Given the description of an element on the screen output the (x, y) to click on. 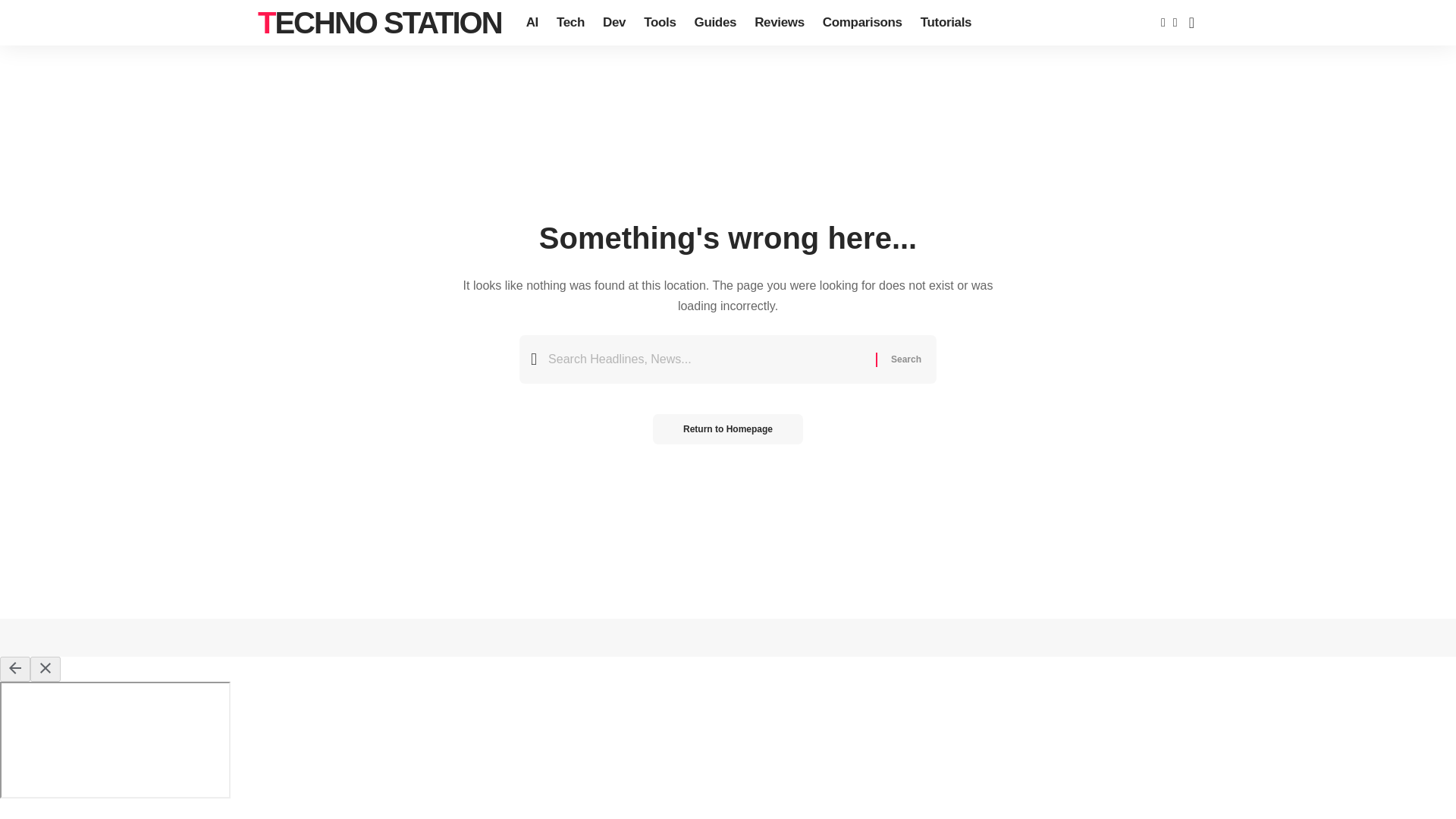
Dev (614, 22)
Techno Station (379, 22)
Tools (659, 22)
Return to Homepage (727, 429)
Search (906, 359)
Guides (715, 22)
Tutorials (945, 22)
Comparisons (862, 22)
Search (906, 359)
Reviews (779, 22)
Tech (570, 22)
TECHNO STATION (379, 22)
